Given the description of an element on the screen output the (x, y) to click on. 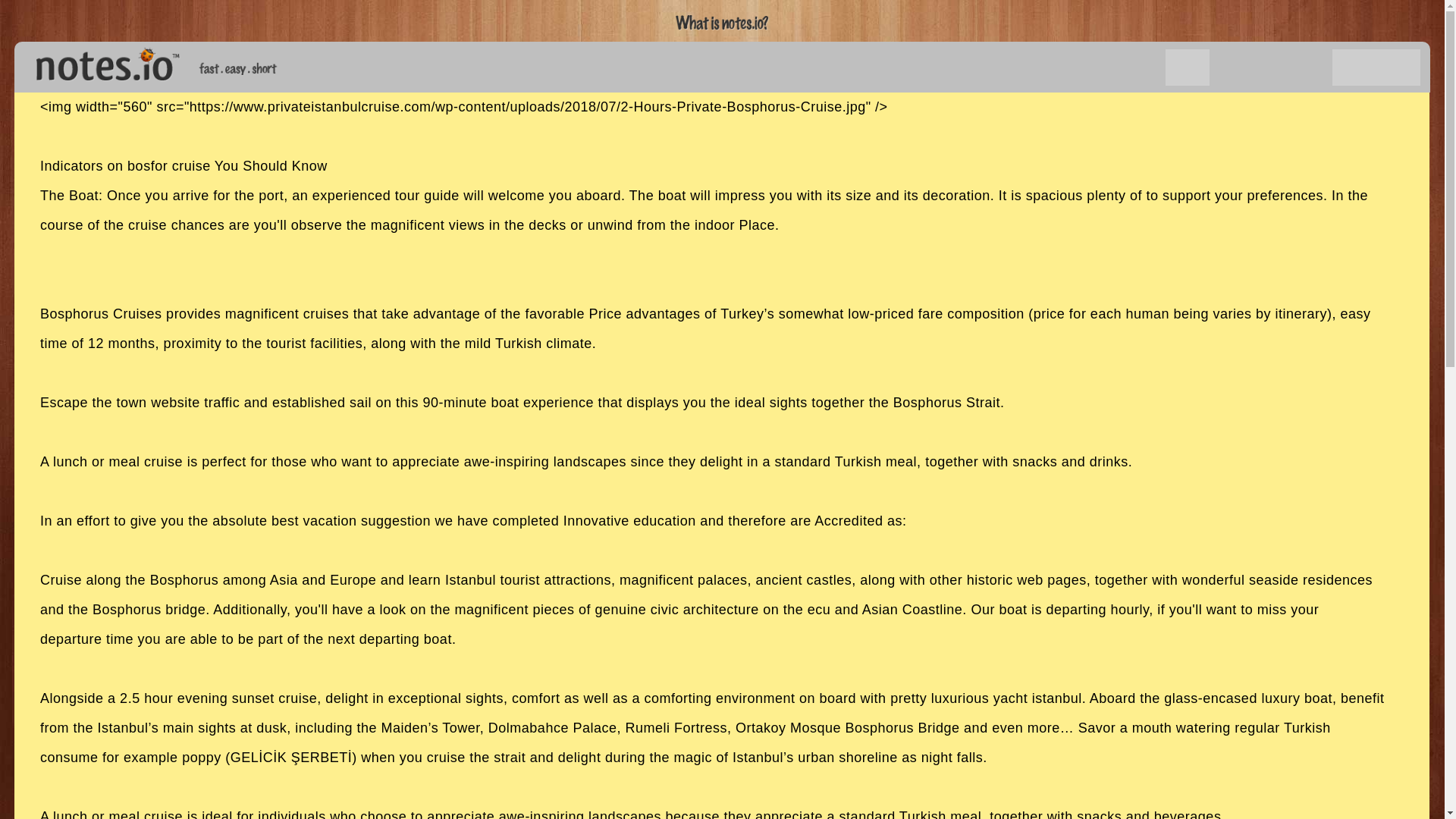
Fast, easy and short (237, 68)
Hqxw (1187, 67)
notes (100, 61)
what is notes.io? (721, 22)
Coming soon (1270, 67)
Popular notes (1143, 67)
Account (1398, 67)
Account (1353, 67)
